Given the description of an element on the screen output the (x, y) to click on. 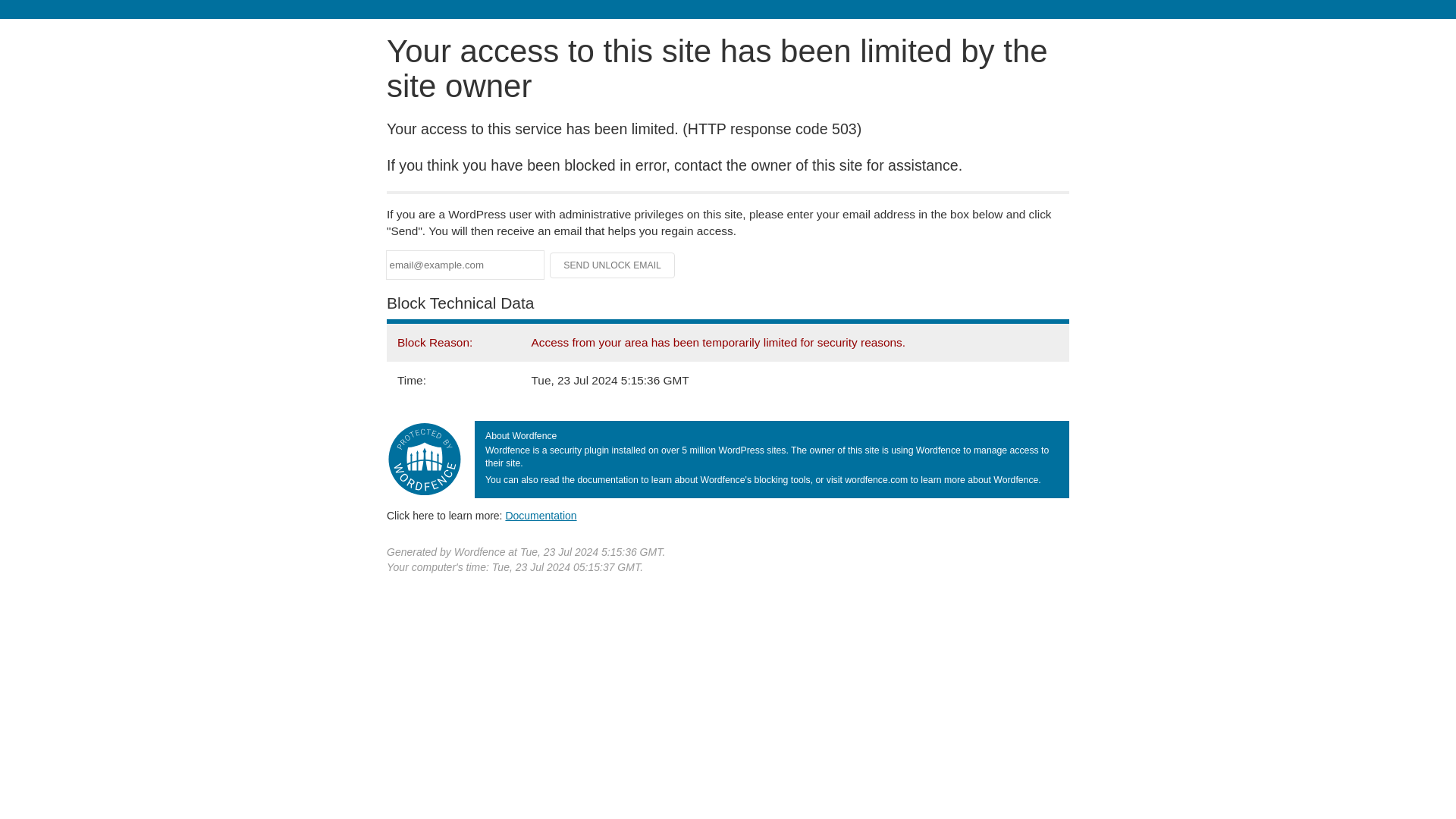
Documentation (540, 515)
Send Unlock Email (612, 265)
Send Unlock Email (612, 265)
